Given the description of an element on the screen output the (x, y) to click on. 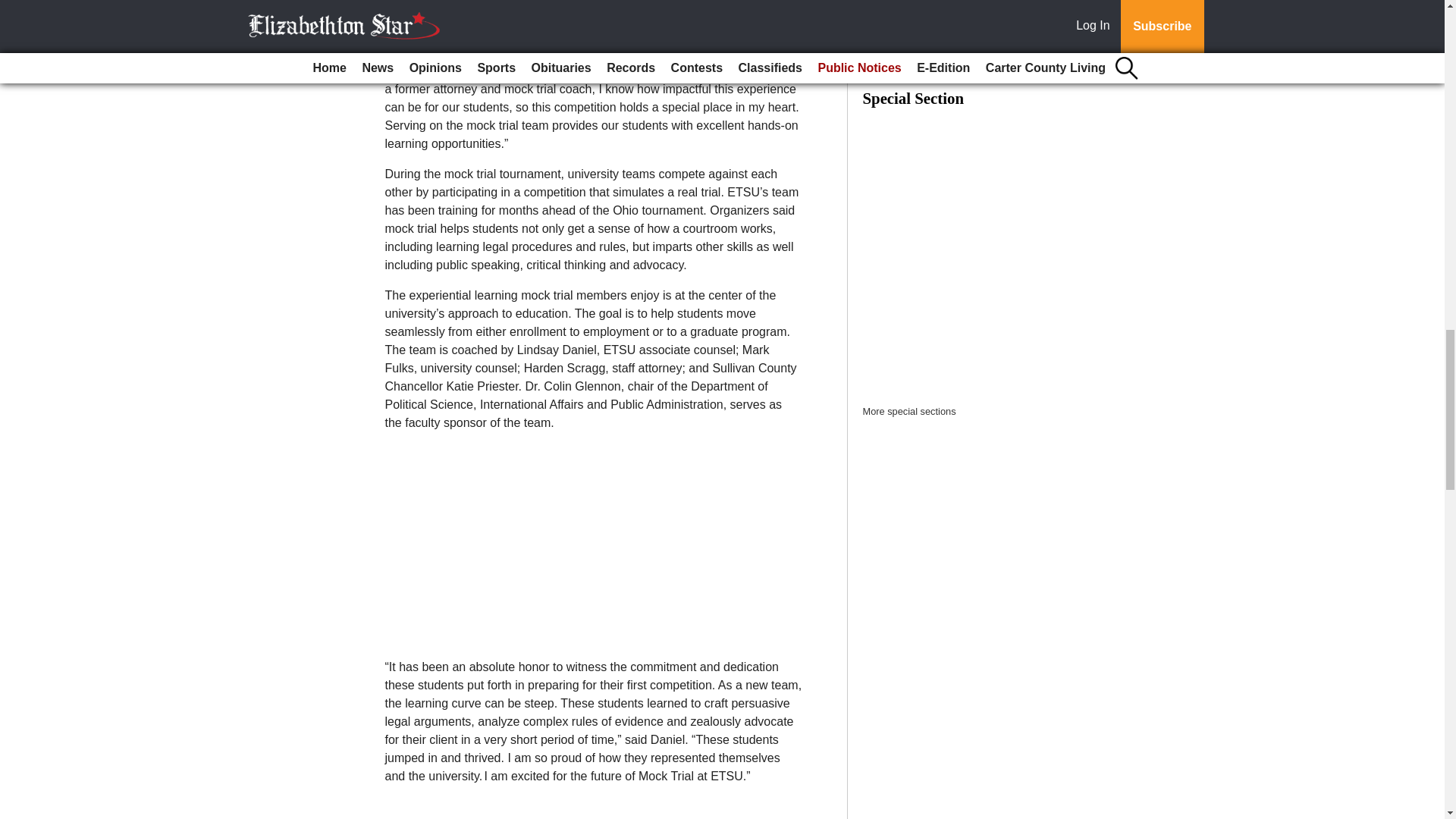
More special sections (909, 410)
